Given the description of an element on the screen output the (x, y) to click on. 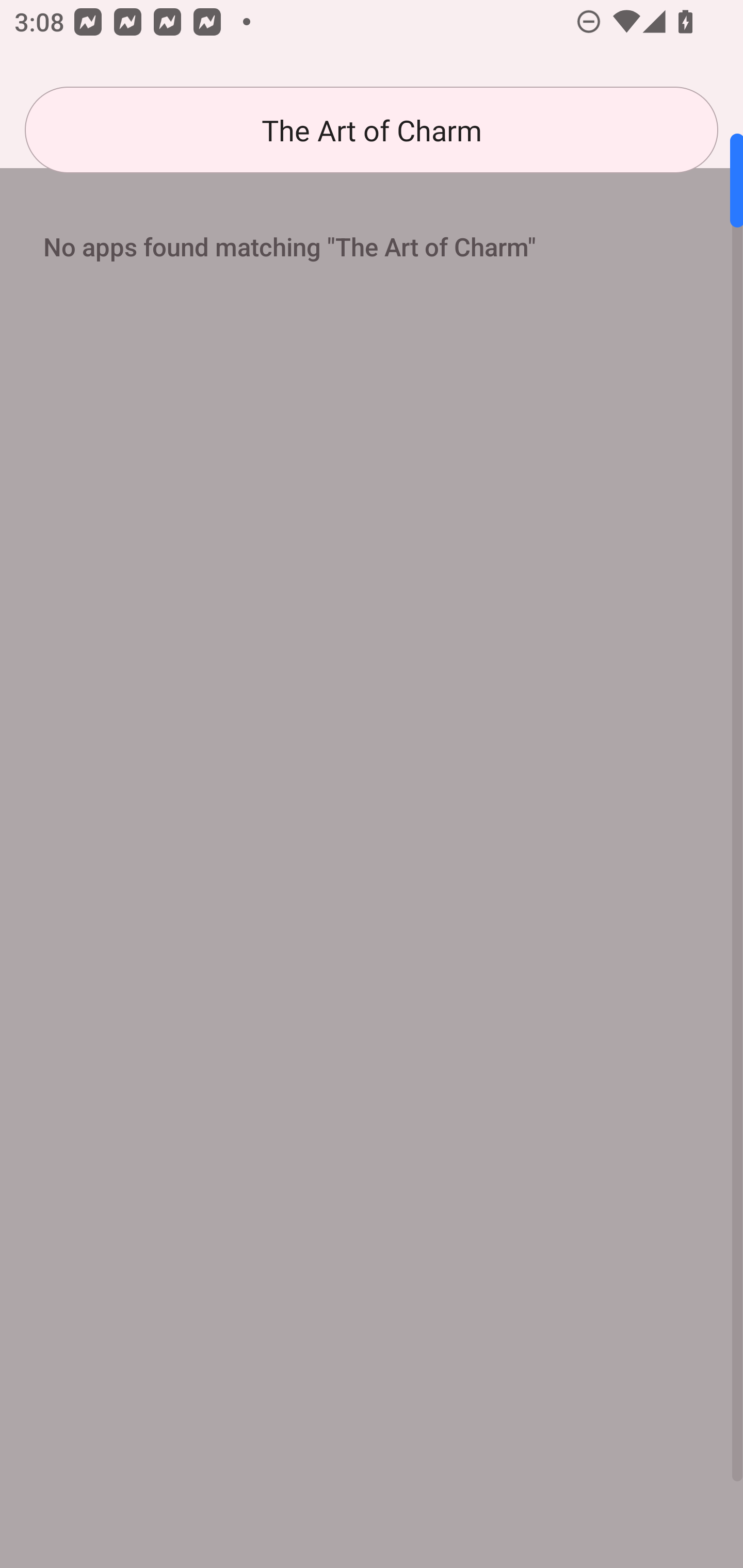
The Art of Charm (371, 130)
